Given the description of an element on the screen output the (x, y) to click on. 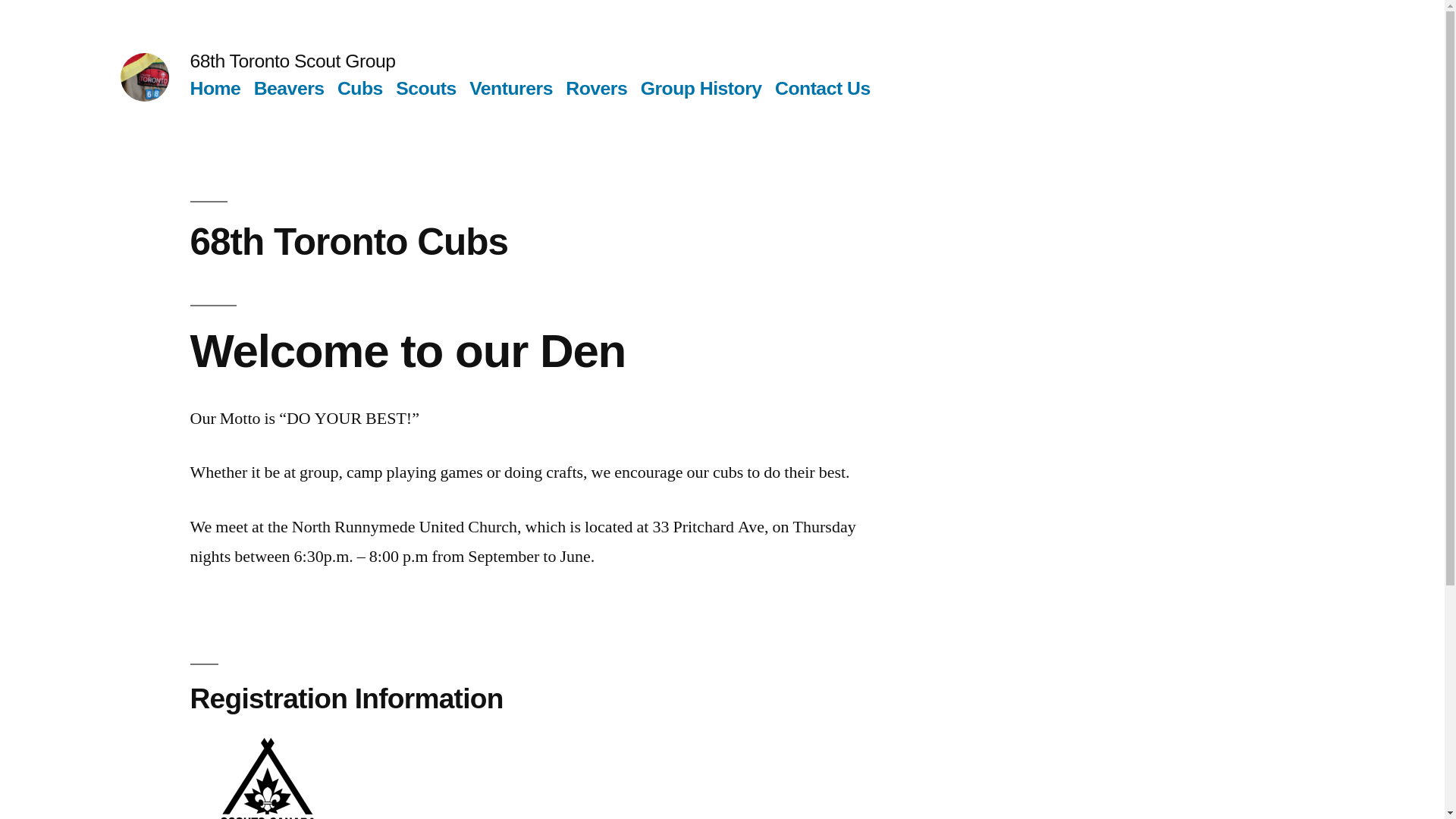
Contact Us Element type: text (822, 88)
68th Toronto Scout Group Element type: text (292, 60)
Beavers Element type: text (289, 88)
Group History Element type: text (701, 88)
Home Element type: text (214, 88)
Venturers Element type: text (510, 88)
Cubs Element type: text (359, 88)
Rovers Element type: text (596, 88)
Scouts Element type: text (425, 88)
